Given the description of an element on the screen output the (x, y) to click on. 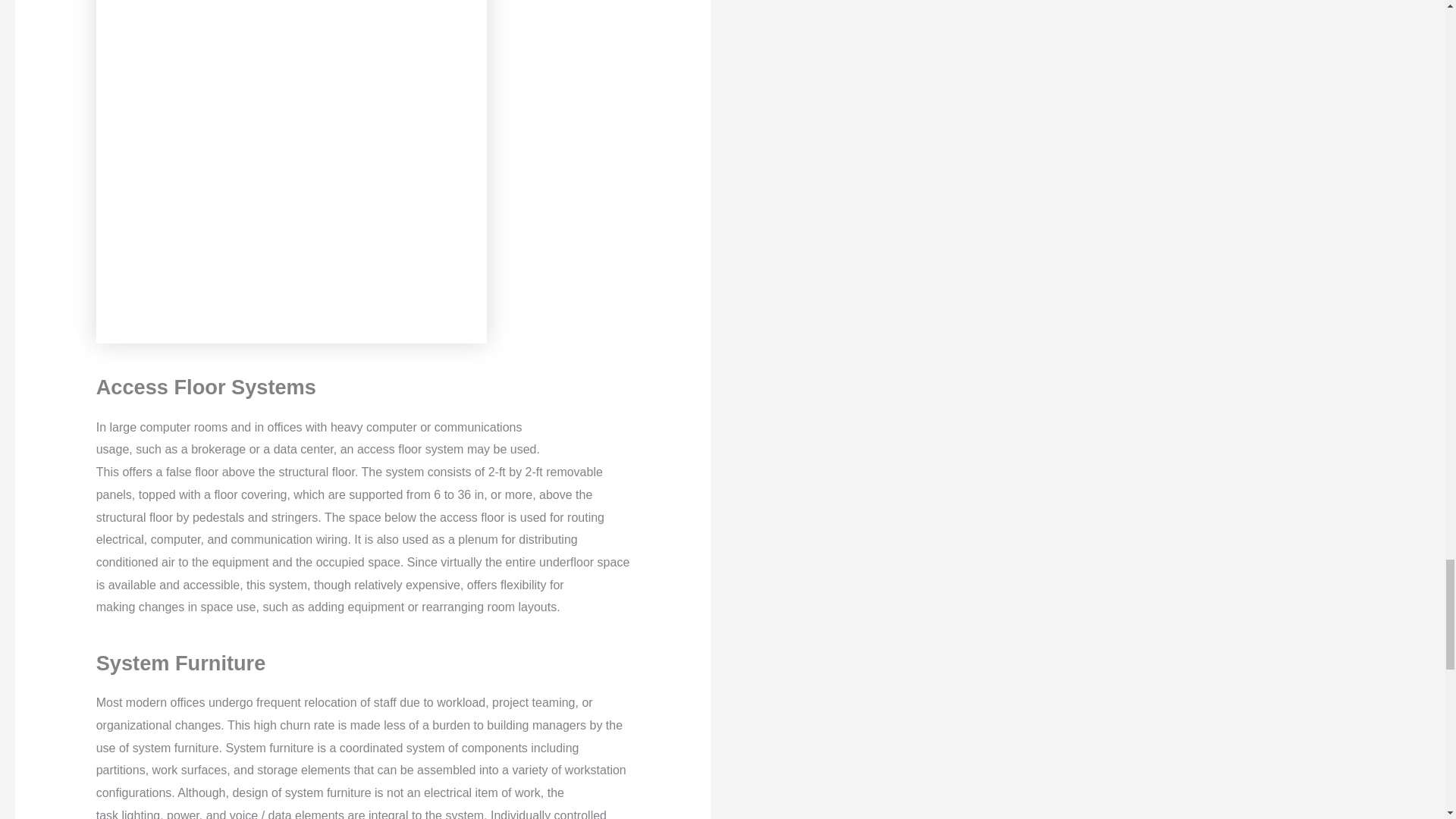
FIGURE 15.6 Cellular steel decking serves (291, 171)
